Given the description of an element on the screen output the (x, y) to click on. 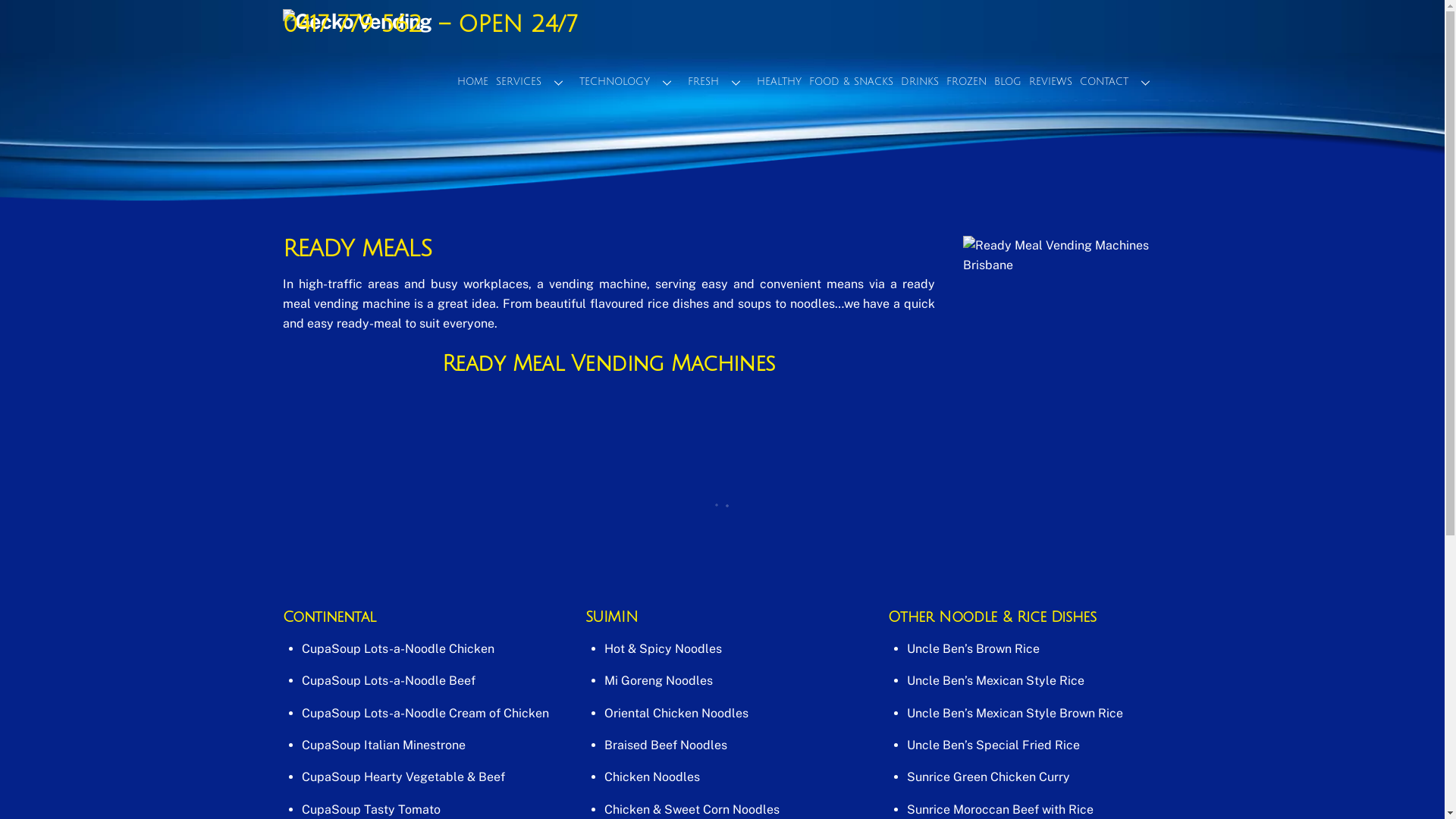
HOME Element type: text (472, 81)
SERVICES Element type: text (532, 81)
HEALTHY Element type: text (778, 81)
FRESH Element type: text (718, 81)
Gecko Vending Element type: hover (356, 21)
FOOD & SNACKS Element type: text (851, 81)
DRINKS Element type: text (918, 81)
TECHNOLOGY Element type: text (628, 81)
CONTACT Element type: text (1118, 81)
Gecko Vending Element type: hover (356, 21)
FROZEN Element type: text (965, 81)
Healthy Snacks for You Gecko Vending 2 Element type: hover (1057, 330)
BLOG Element type: text (1007, 81)
REVIEWS Element type: text (1050, 81)
